Given the description of an element on the screen output the (x, y) to click on. 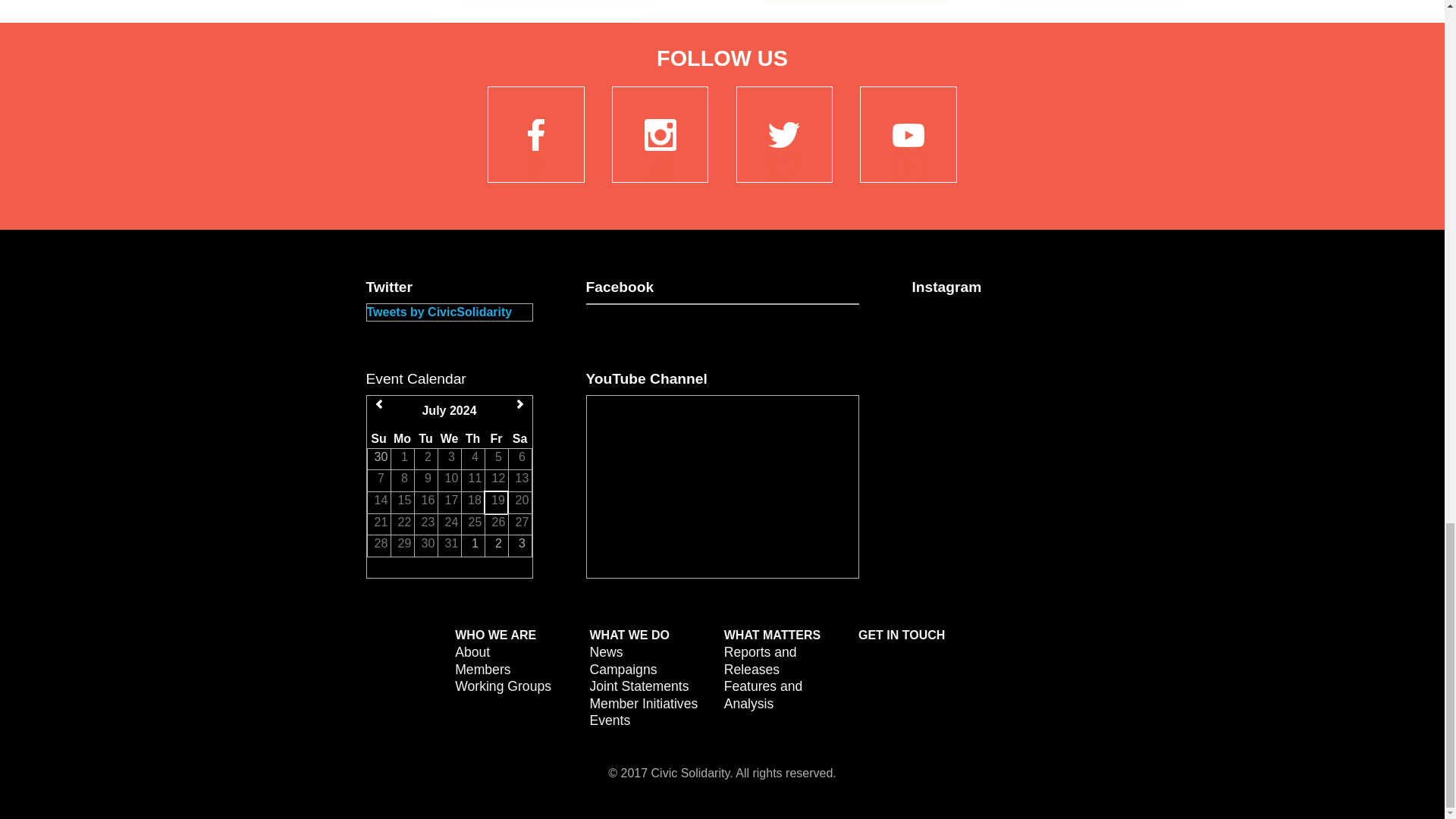
Navigate to next month (519, 403)
Navigate to previous month (379, 403)
